Given the description of an element on the screen output the (x, y) to click on. 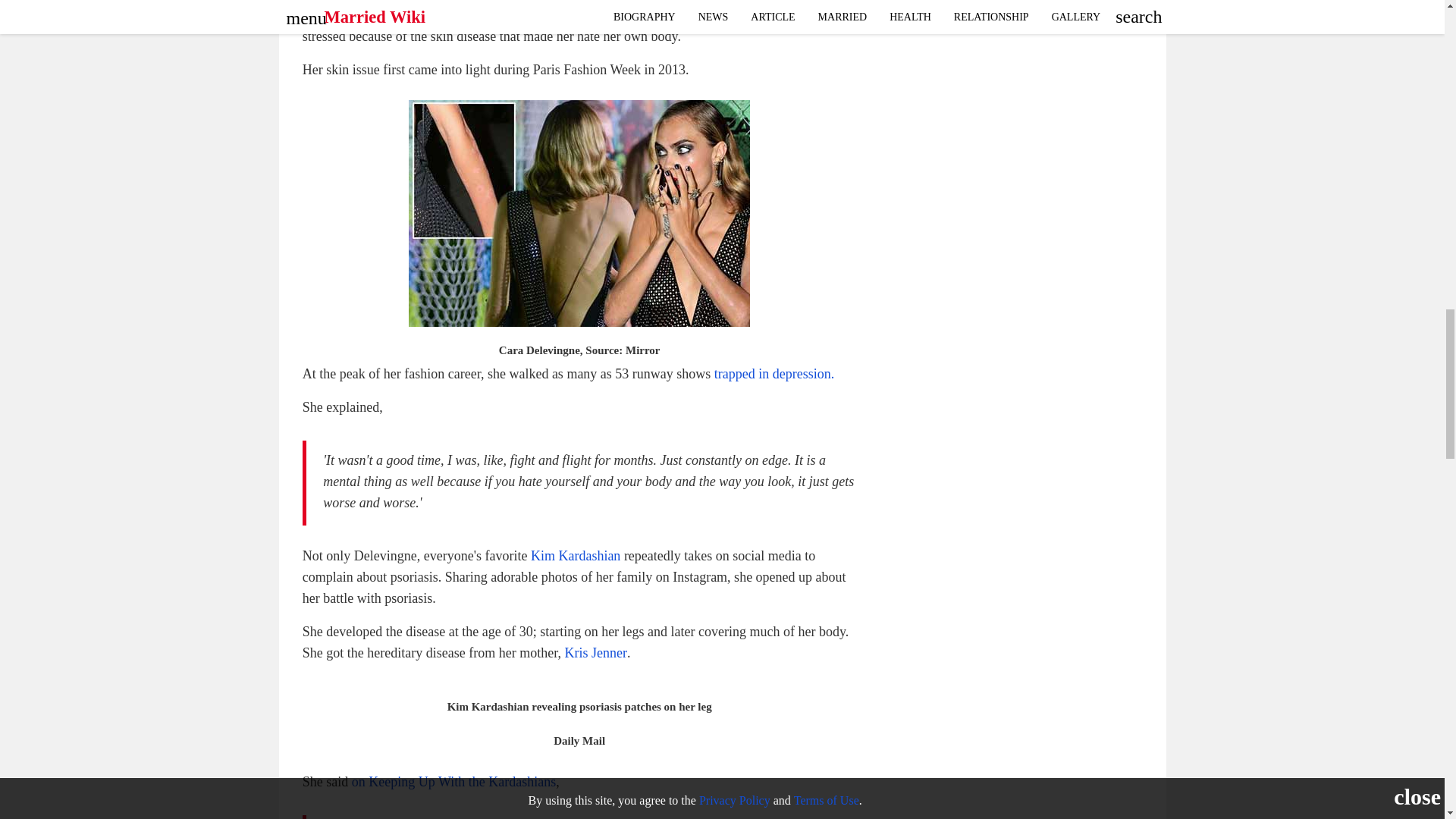
on Keeping Up With the Kardashians (454, 781)
Kim Kardashian (575, 555)
Kris Jenner (595, 652)
trapped in depression. (774, 373)
Cara Delevingne (348, 0)
